Given the description of an element on the screen output the (x, y) to click on. 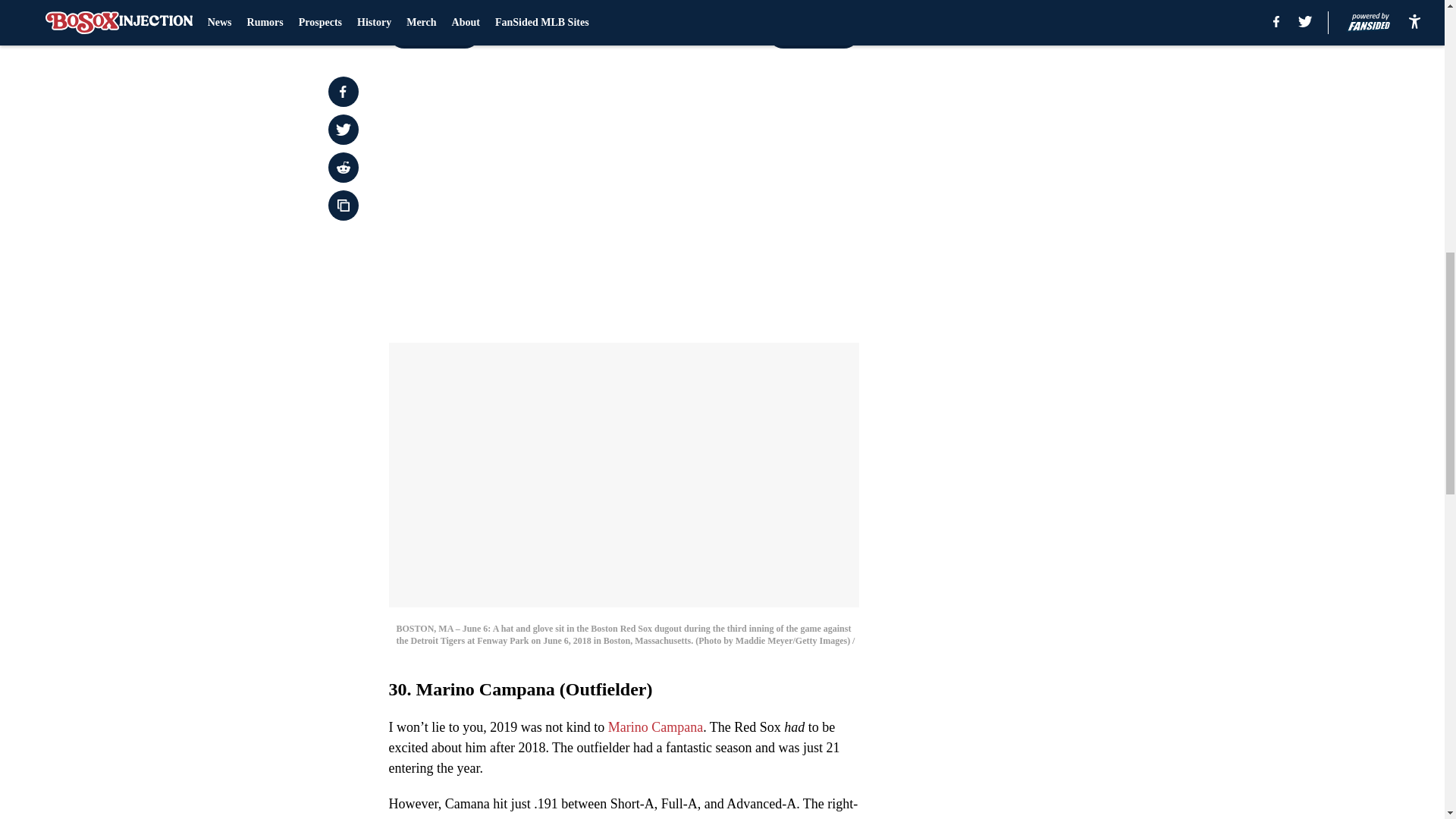
Marino Campana (655, 726)
Next (813, 33)
Prev (433, 33)
